Given the description of an element on the screen output the (x, y) to click on. 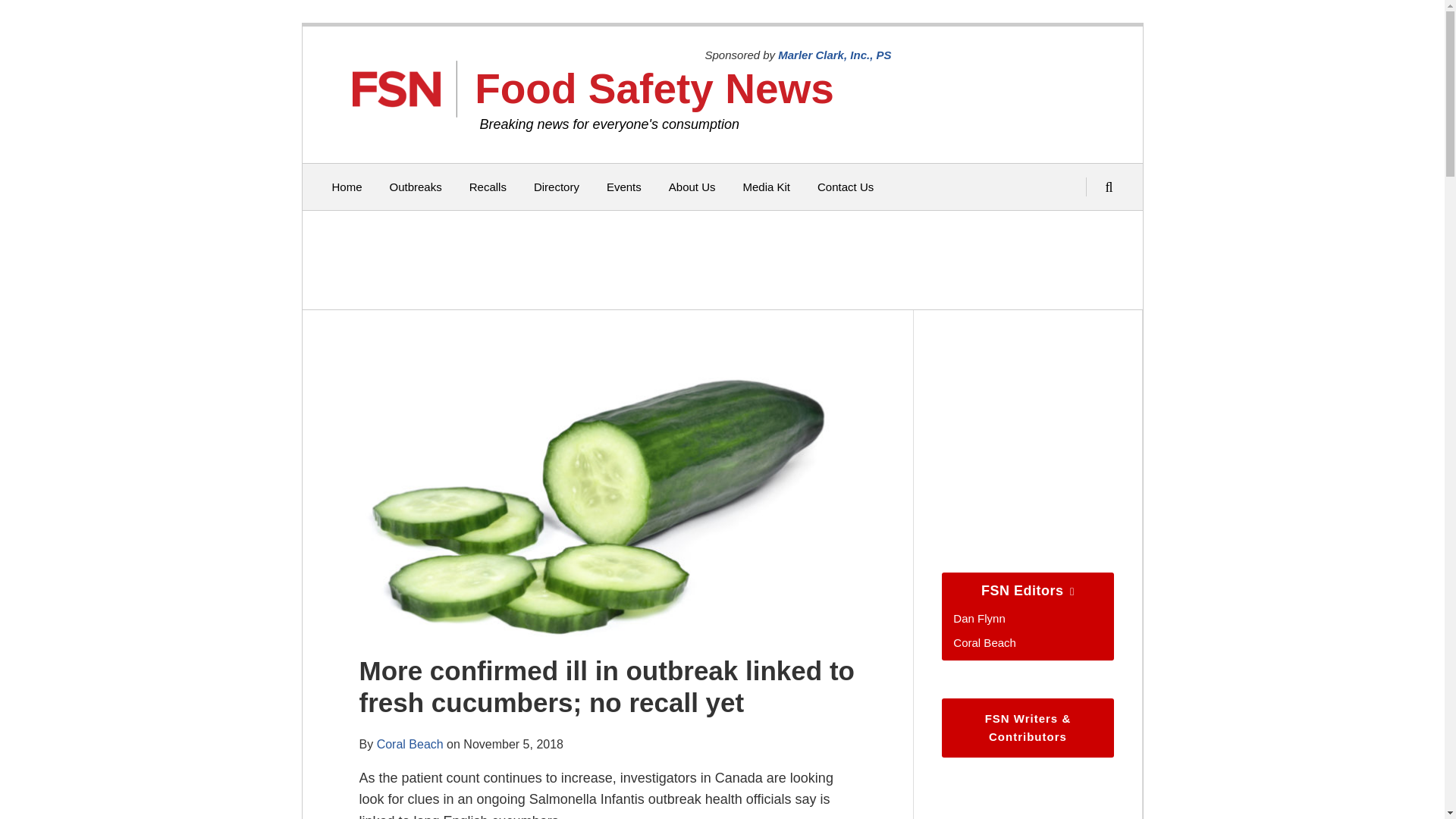
Media Kit (766, 187)
Advertisement (718, 260)
Events (624, 187)
Outbreaks (416, 187)
Marler Clark, Inc., PS (834, 54)
Home (346, 187)
Food Safety News (654, 88)
Recalls (487, 187)
About Us (692, 187)
Coral Beach (984, 642)
